Given the description of an element on the screen output the (x, y) to click on. 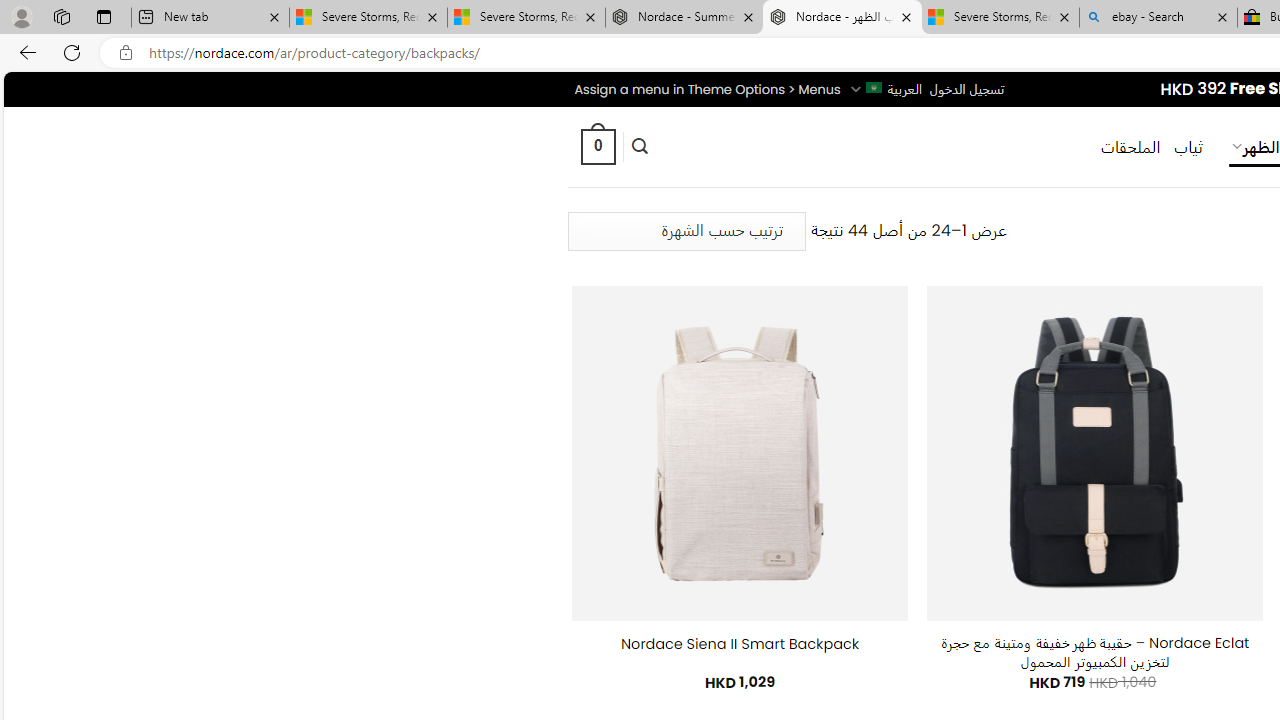
Assign a menu in Theme Options > Menus (706, 89)
